Given the description of an element on the screen output the (x, y) to click on. 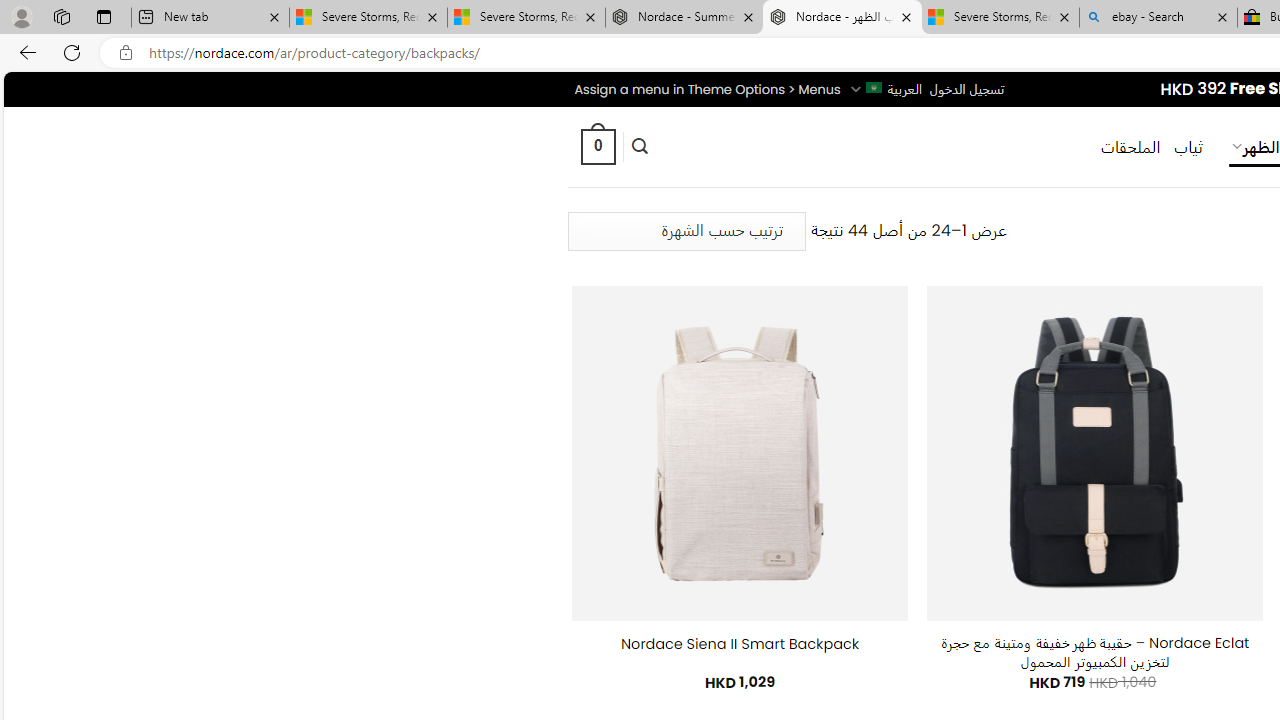
Assign a menu in Theme Options > Menus (706, 89)
